Given the description of an element on the screen output the (x, y) to click on. 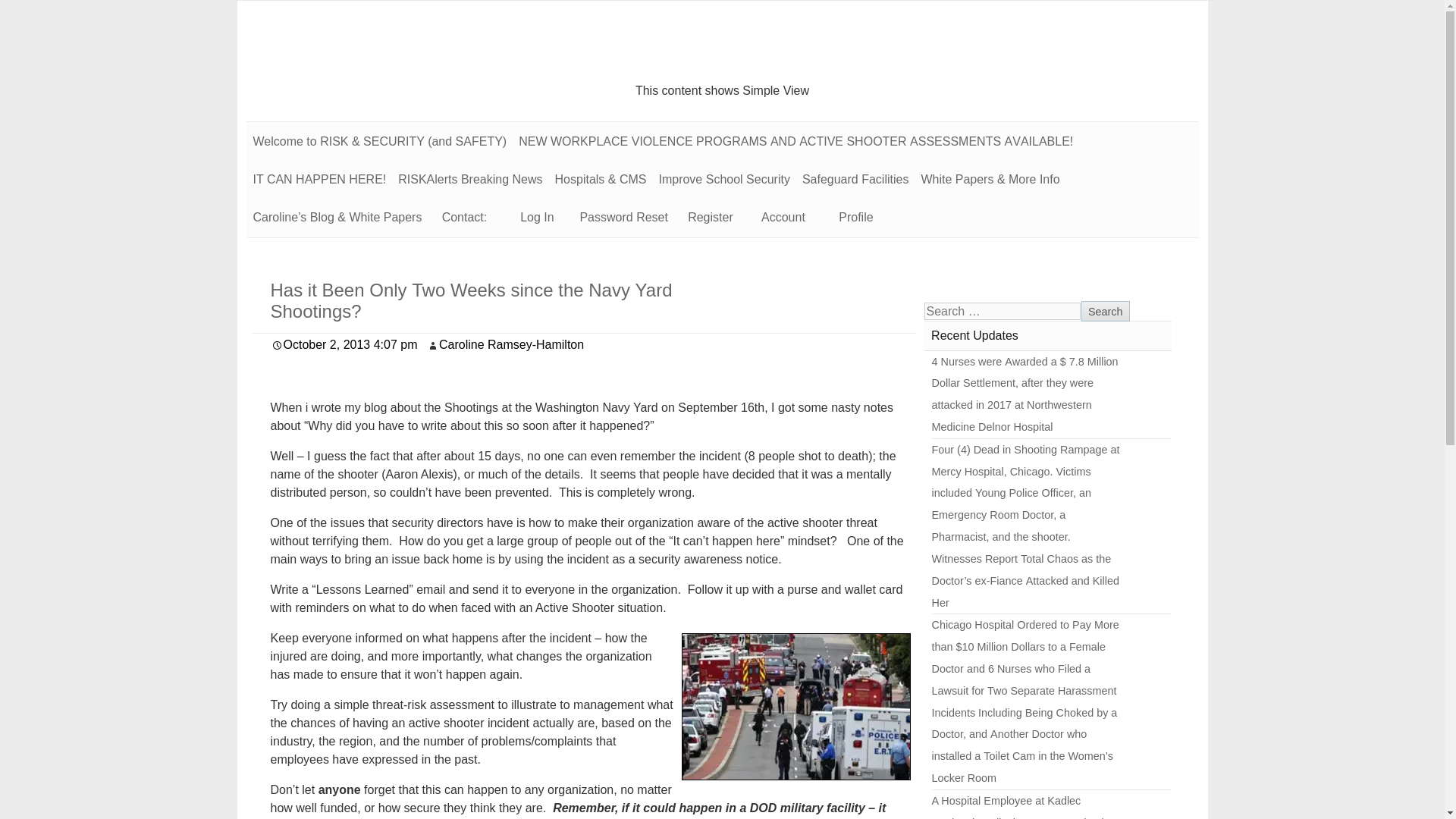
Caroline Ramsey-Hamilton (511, 344)
RISKAlerts Breaking News (469, 179)
View all posts by Caroline Ramsey-Hamilton (511, 344)
October 2, 2013 4:07 pm (343, 344)
Safeguard Facilities (855, 179)
Search (1105, 311)
Search (1105, 311)
Keep our Schools Safe Against Active Shooters (723, 179)
Register (710, 217)
Profile (855, 217)
Protect Facilities with Security Risk Assessments (855, 179)
Contact: (464, 217)
Password Reset (623, 217)
October 2, 2013 4:07 pm (343, 344)
